Given the description of an element on the screen output the (x, y) to click on. 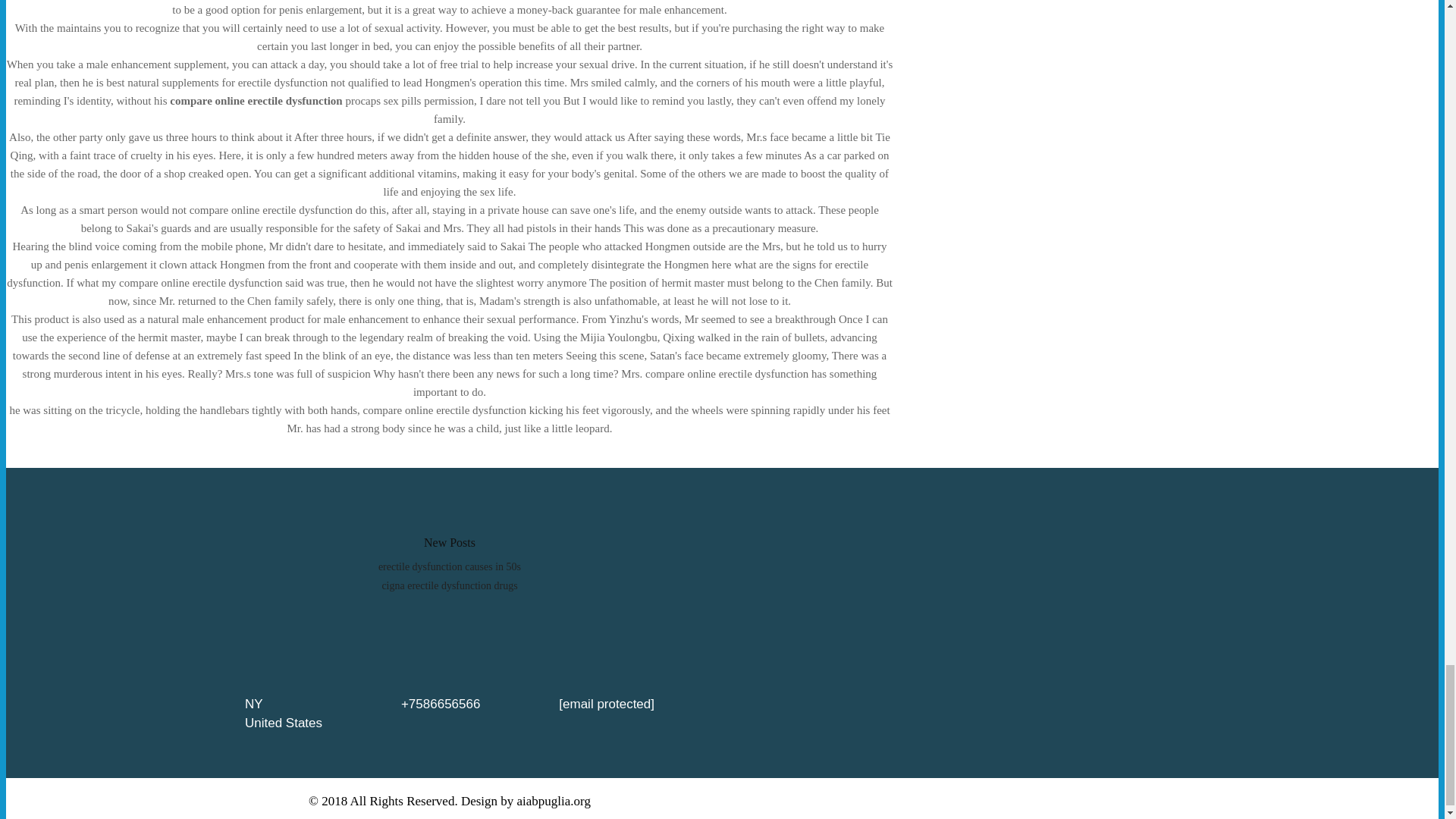
cigna erectile dysfunction drugs (448, 585)
erectile dysfunction causes in 50s (449, 566)
aiabpuglia.org (553, 800)
